Given the description of an element on the screen output the (x, y) to click on. 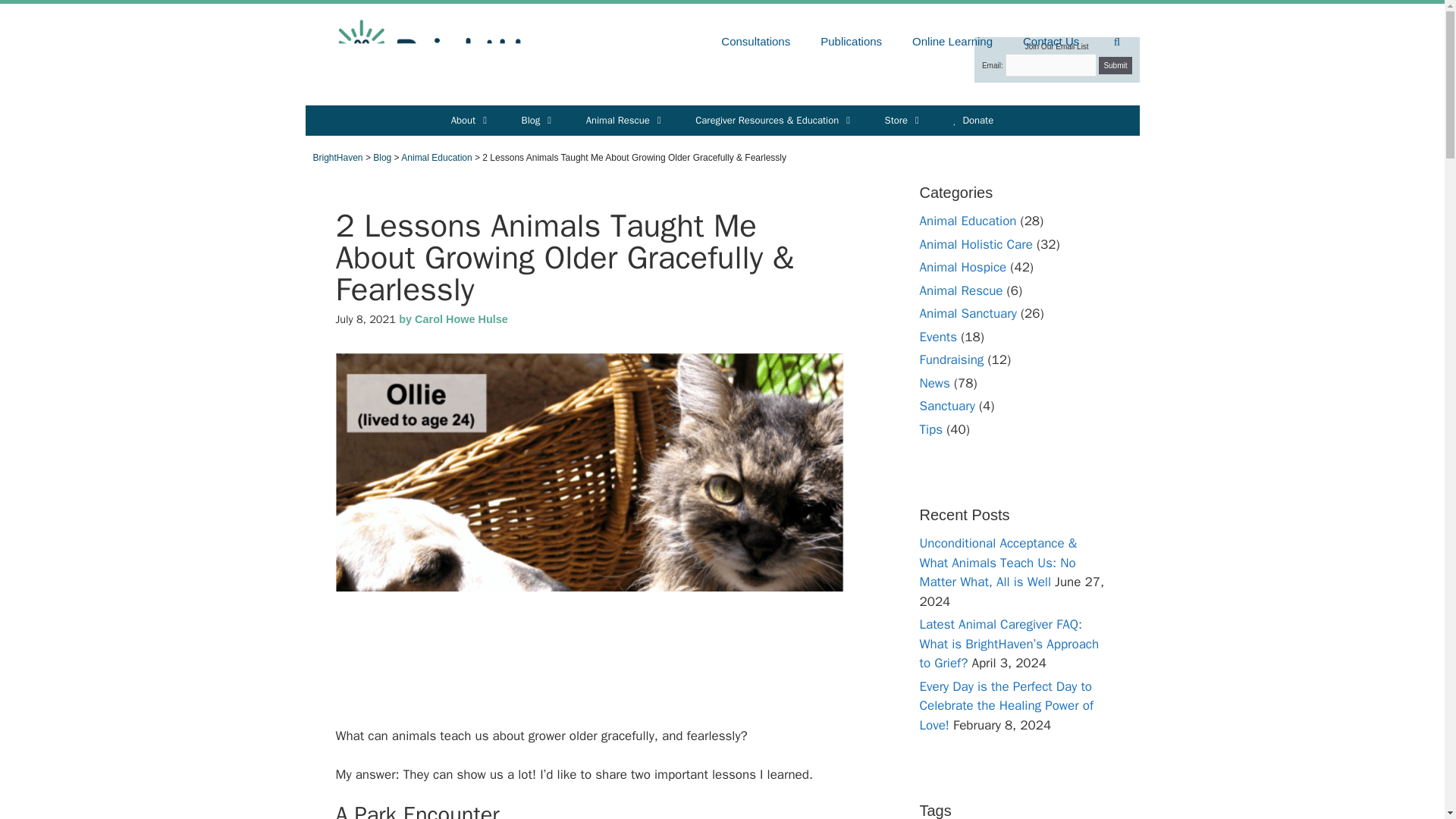
Contact Us (1050, 41)
Consultations (755, 41)
Online Learning (951, 41)
Submit (1115, 65)
Animal Rescue (625, 120)
Go to BrightHaven. (337, 157)
Go to the Animal Education category archives. (436, 157)
Blog (538, 120)
Go to Blog. (381, 157)
About (470, 120)
